Given the description of an element on the screen output the (x, y) to click on. 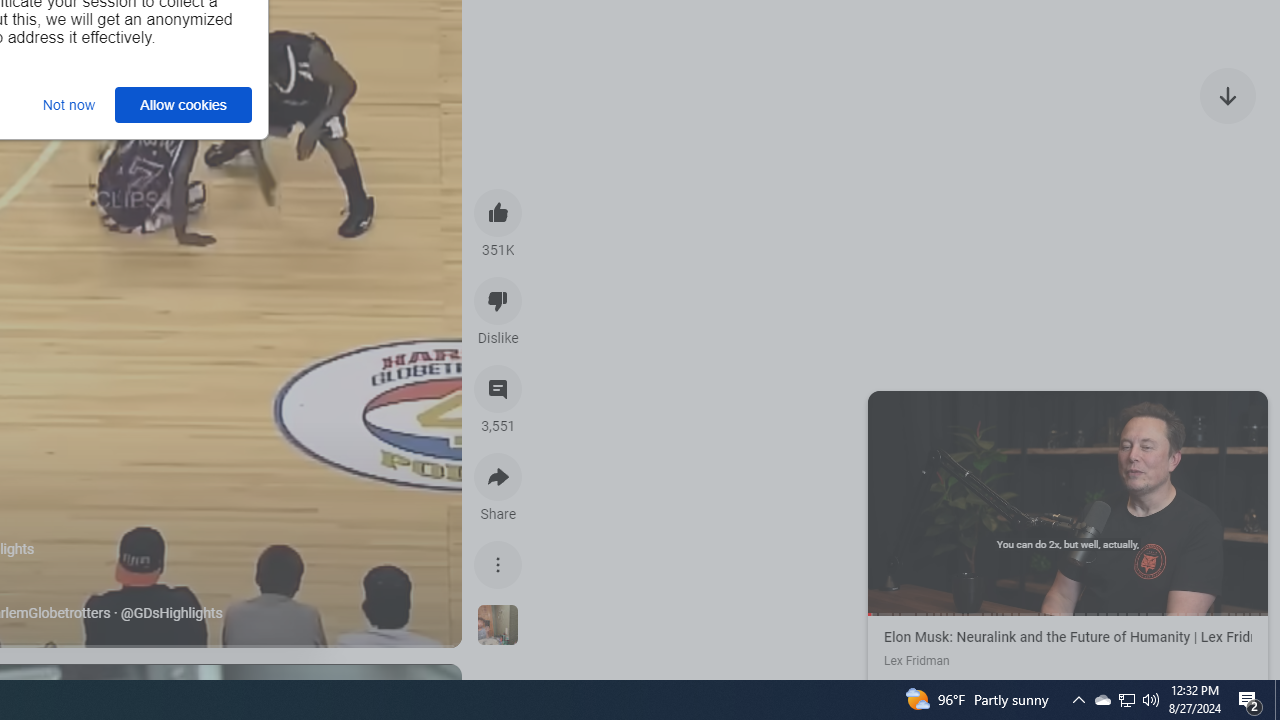
View 3,551 comments (498, 389)
Next video (1227, 94)
Pause (k) (1067, 501)
Next (SHIFT+n) (1168, 501)
Share (498, 476)
Expand (i) (887, 410)
Not now (68, 104)
Seek slider (1067, 614)
More actions (498, 564)
See more videos using this sound (497, 626)
Allow cookies (183, 104)
Dislike this video (498, 300)
